Given the description of an element on the screen output the (x, y) to click on. 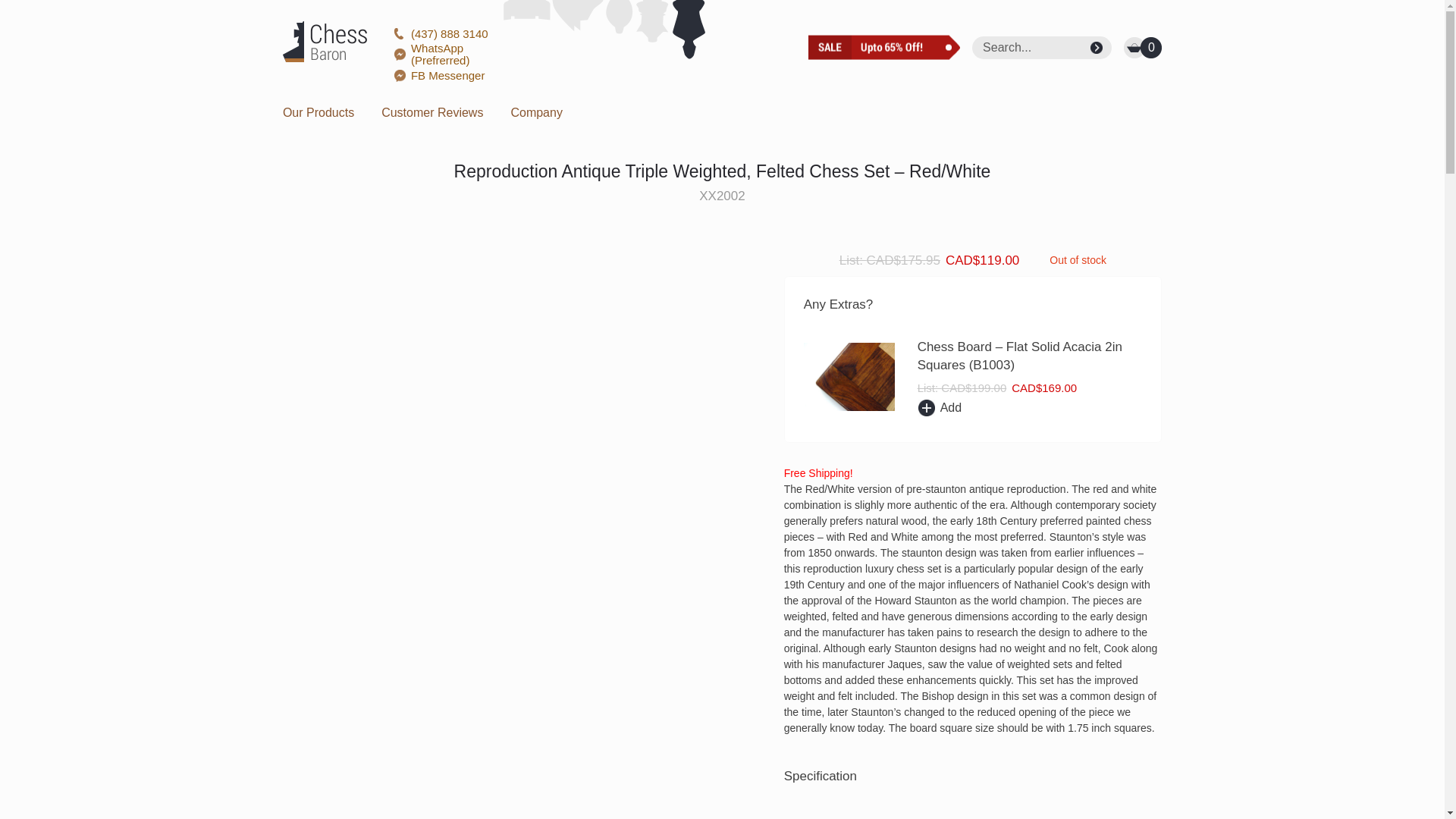
Search... (1031, 47)
FB Messenger (447, 75)
0 (1142, 47)
Customer Reviews (432, 112)
Search... (1031, 47)
